Given the description of an element on the screen output the (x, y) to click on. 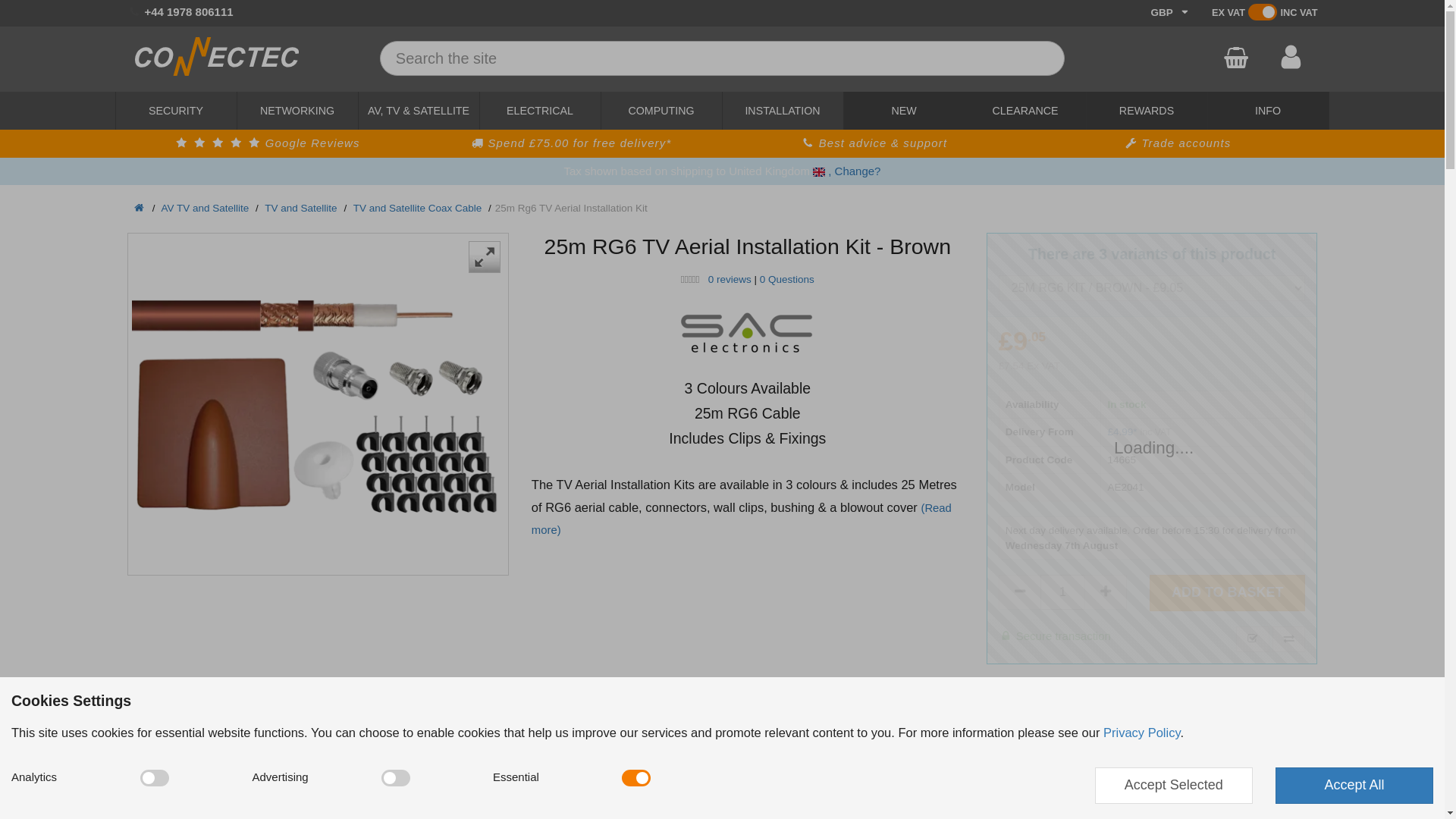
GBP   (266, 143)
Basket (1170, 12)
ELECTRICAL (1234, 58)
View products from SAC Electronics (540, 110)
INSTALLATION (747, 330)
SECURITY (783, 110)
1 (217, 71)
COMPUTING (176, 110)
Trade accounts (1062, 591)
View delivery information (660, 110)
  Home (1177, 143)
, Change? (570, 143)
CLEARANCE (136, 207)
